Given the description of an element on the screen output the (x, y) to click on. 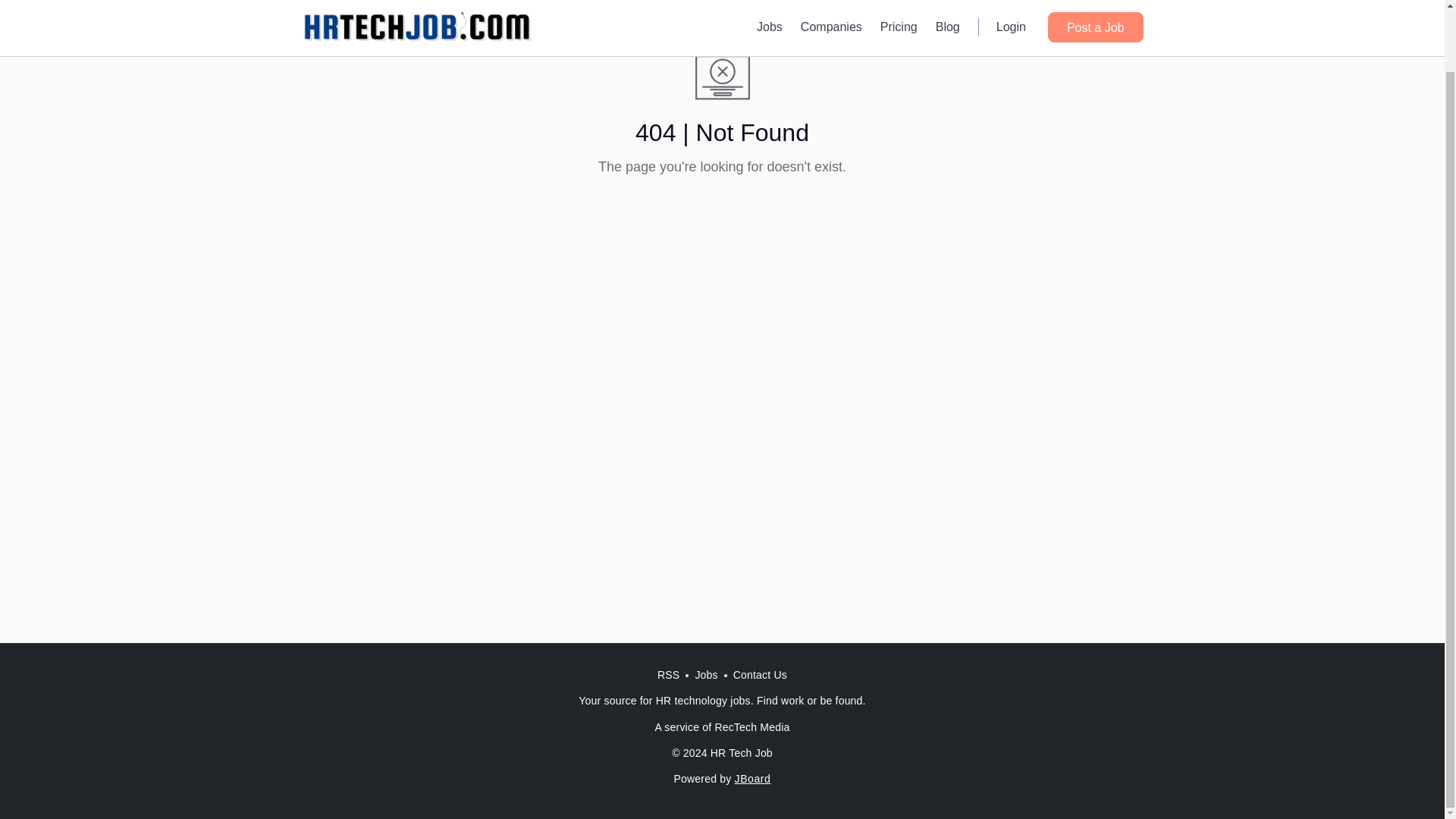
RSS (668, 675)
JBoard (753, 778)
RecTech Media (751, 727)
Contact Us (759, 675)
Jobs (706, 675)
